Given the description of an element on the screen output the (x, y) to click on. 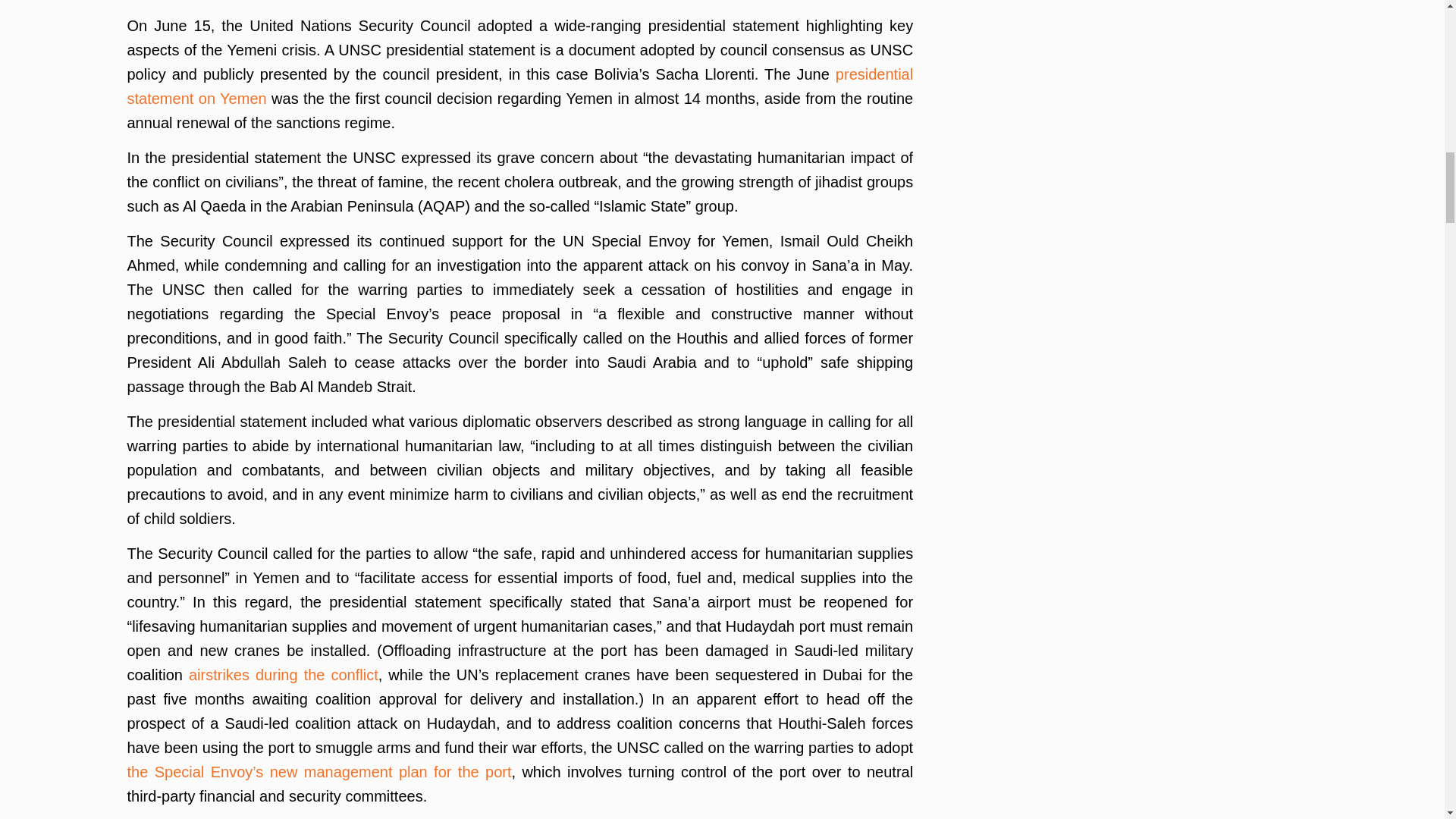
airstrikes during the conflict (283, 674)
presidential statement on Yemen (521, 86)
